Given the description of an element on the screen output the (x, y) to click on. 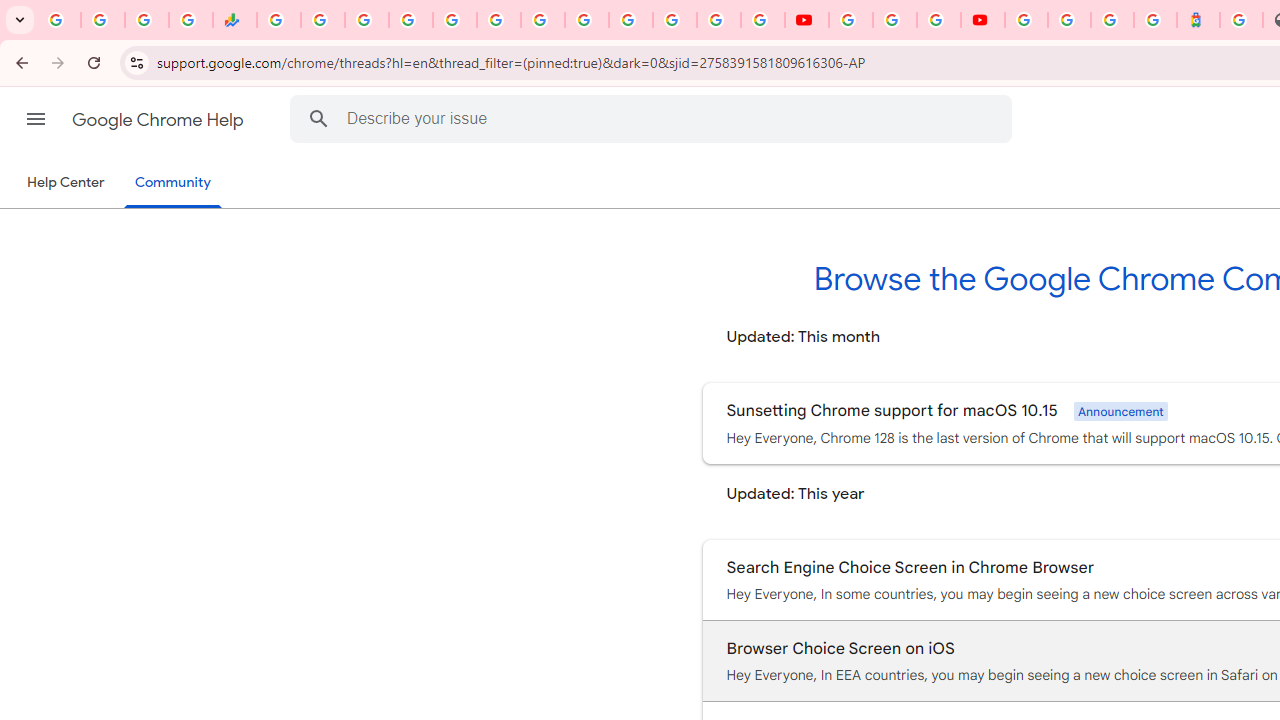
Content Creator Programs & Opportunities - YouTube Creators (982, 20)
YouTube (586, 20)
Atour Hotel - Google hotels (1197, 20)
Search Help Center (318, 118)
Sign in - Google Accounts (1069, 20)
Create your Google Account (938, 20)
Sign in - Google Accounts (1026, 20)
